Given the description of an element on the screen output the (x, y) to click on. 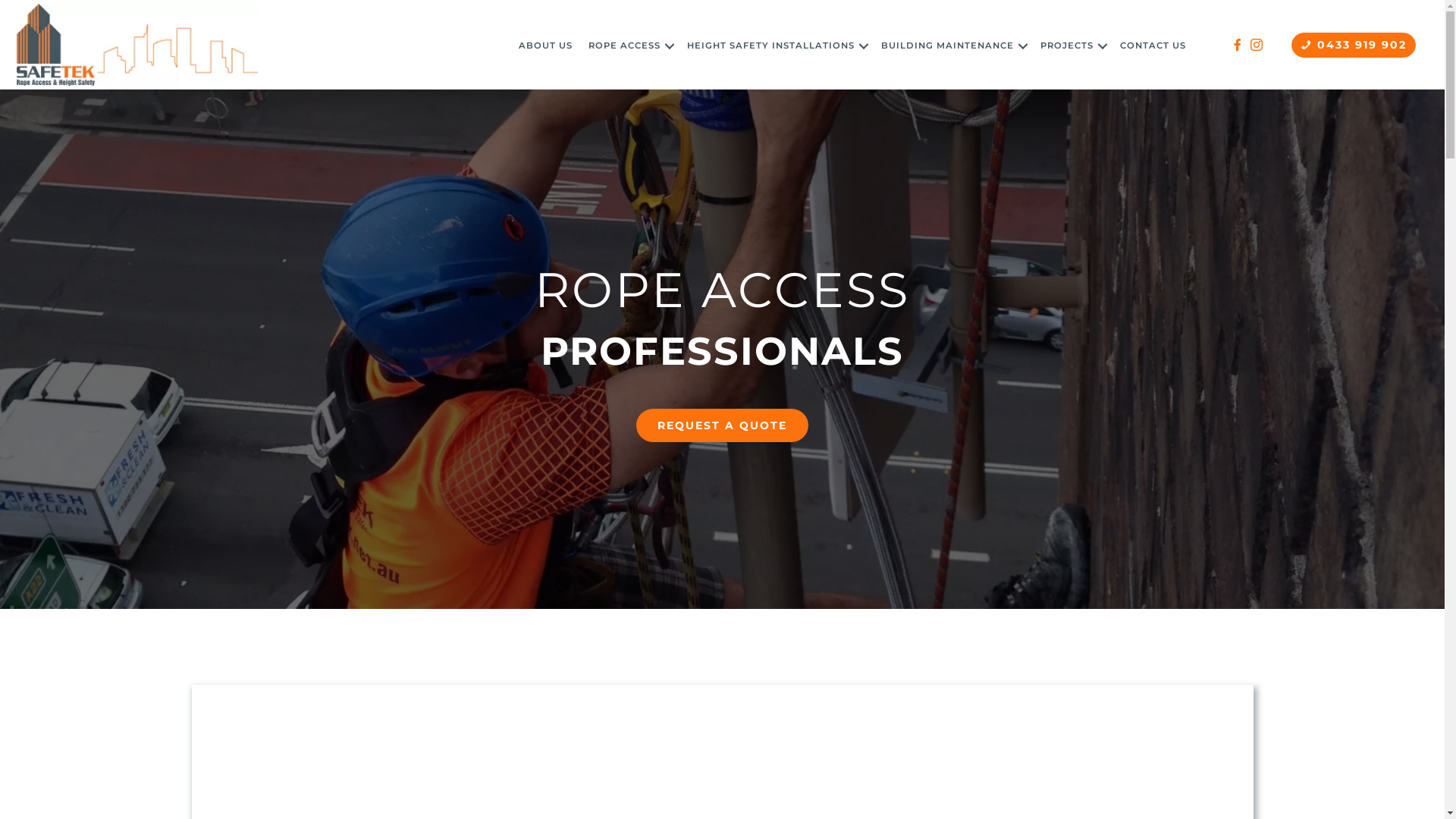
PROJECTS Element type: text (1071, 46)
logo-safetek Element type: hover (136, 44)
BUILDING MAINTENANCE Element type: text (952, 46)
CONTACT US Element type: text (1152, 46)
ABOUT US Element type: text (545, 46)
0433 919 902 Element type: text (1353, 43)
ROPE ACCESS Element type: text (629, 46)
HEIGHT SAFETY INSTALLATIONS Element type: text (775, 46)
REQUEST A QUOTE Element type: text (722, 425)
